Given the description of an element on the screen output the (x, y) to click on. 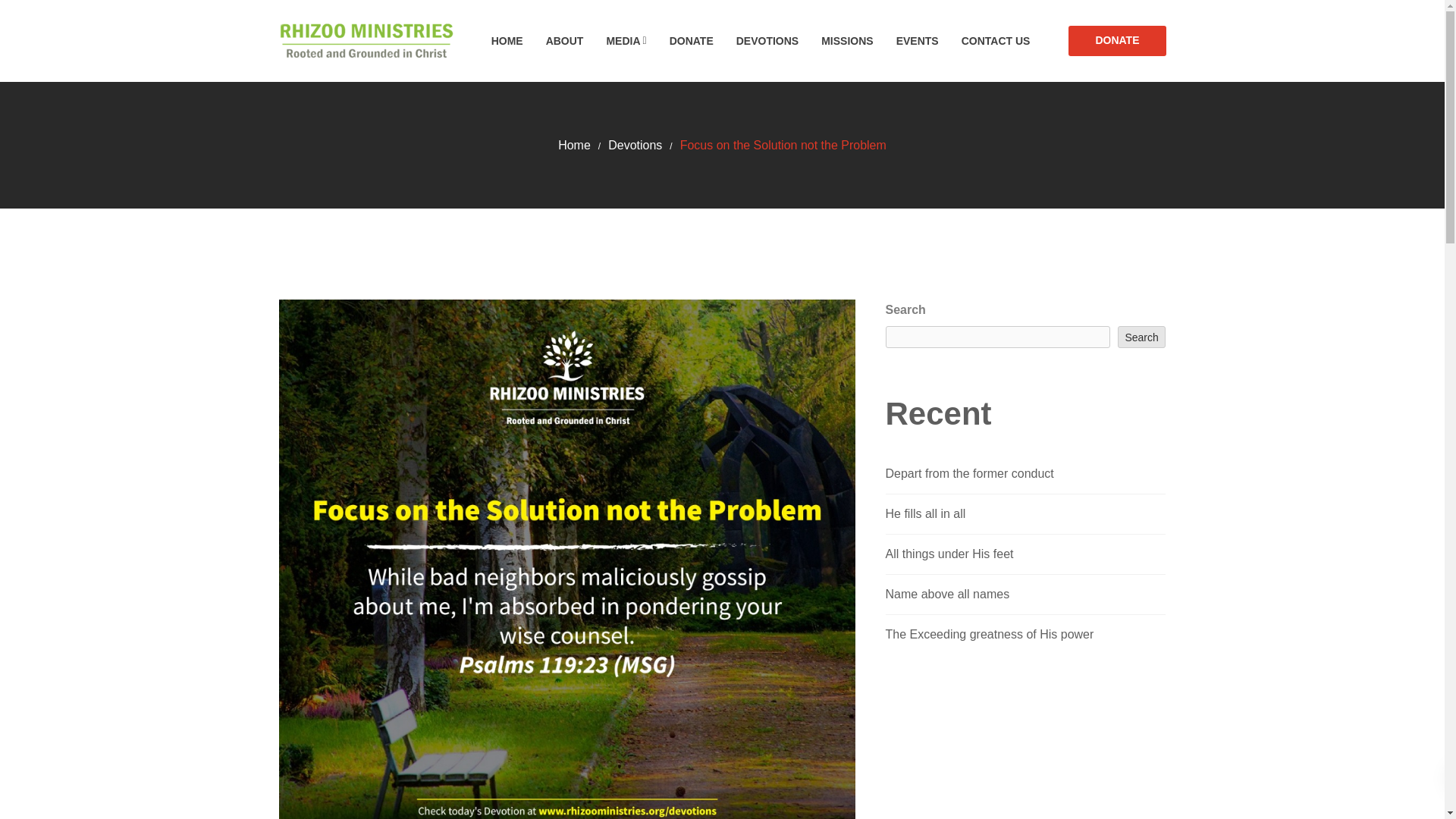
He fills all in all (925, 513)
MISSIONS (858, 40)
All things under His feet (949, 553)
Home (574, 144)
Focus on the Solution not the Problem (782, 144)
Devotions (635, 144)
Home (574, 144)
Search (1142, 336)
Depart from the former conduct (969, 472)
Name above all names (947, 594)
The Exceeding greatness of His power (989, 634)
DONATE (1117, 40)
CONTACT US (1006, 40)
DEVOTIONS (778, 40)
Rhizoo Ministries (365, 40)
